Given the description of an element on the screen output the (x, y) to click on. 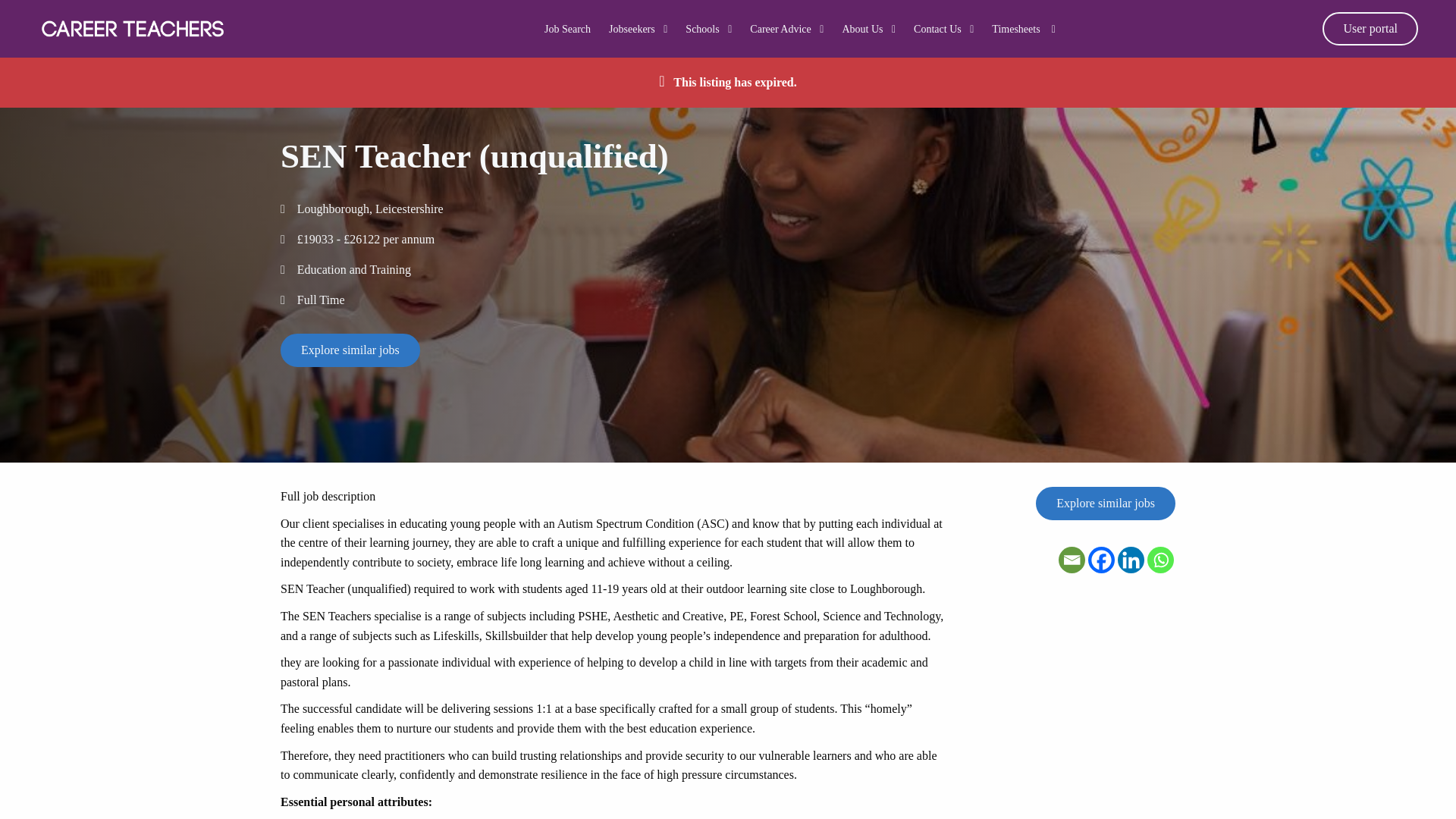
Whatsapp (1160, 560)
About Us (868, 29)
Job Search (567, 29)
Email (1071, 560)
Explore similar jobs (1104, 503)
Timesheets  (1022, 29)
Career Advice (786, 29)
User portal (1370, 28)
Facebook (1101, 560)
Linkedin (1131, 560)
Contact Us (944, 29)
Jobseekers (637, 29)
Explore similar jobs (350, 349)
Schools (708, 29)
